Given the description of an element on the screen output the (x, y) to click on. 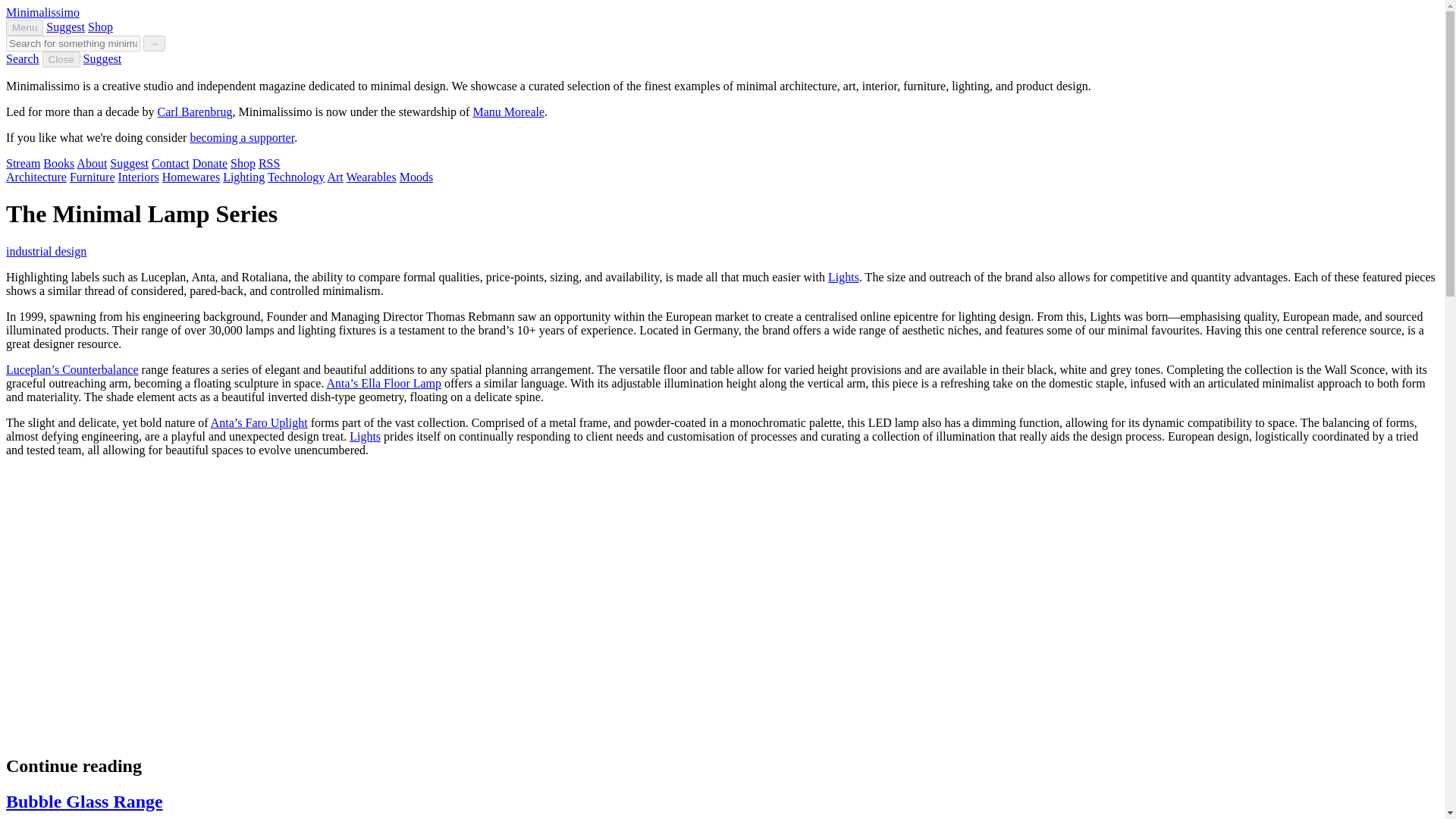
Stream (22, 163)
Lights (843, 277)
About (91, 163)
Lights (364, 436)
Books (58, 163)
Donate (209, 163)
industrial design (45, 250)
Suggest (129, 163)
Shop (100, 26)
Contact (170, 163)
Suggest (102, 58)
RSS (269, 163)
Technology (295, 176)
Furniture (92, 176)
Close (61, 59)
